Given the description of an element on the screen output the (x, y) to click on. 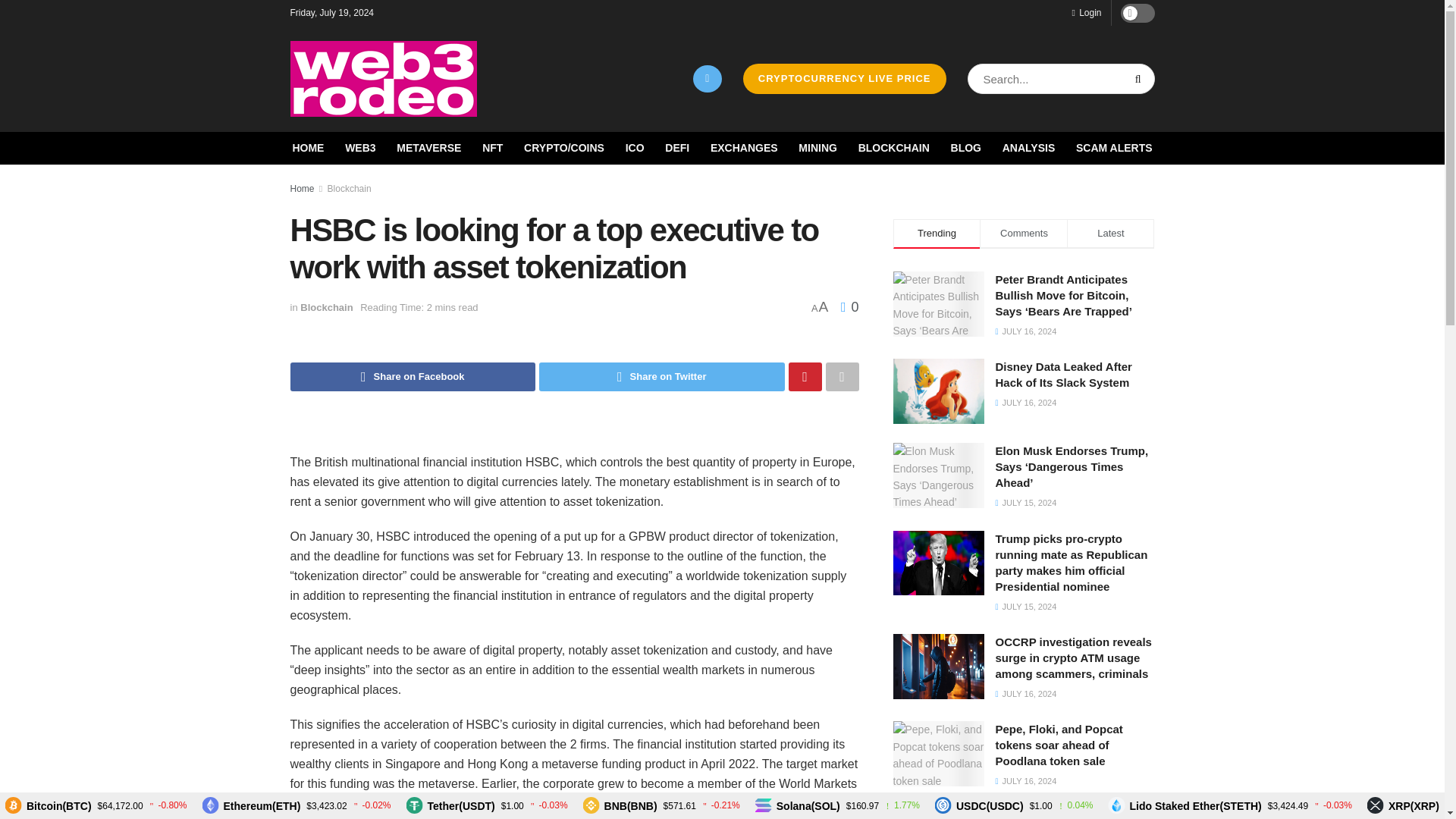
Home (301, 188)
HOME (307, 147)
BLOG (965, 147)
SCAM ALERTS (1114, 147)
METAVERSE (428, 147)
CRYPTOCURRENCY LIVE PRICE (844, 78)
Login (1085, 12)
BLOCKCHAIN (894, 147)
NFT (491, 147)
Blockchain (349, 188)
WEB3 (360, 147)
ICO (635, 147)
ANALYSIS (1029, 147)
DEFI (676, 147)
EXCHANGES (743, 147)
